Given the description of an element on the screen output the (x, y) to click on. 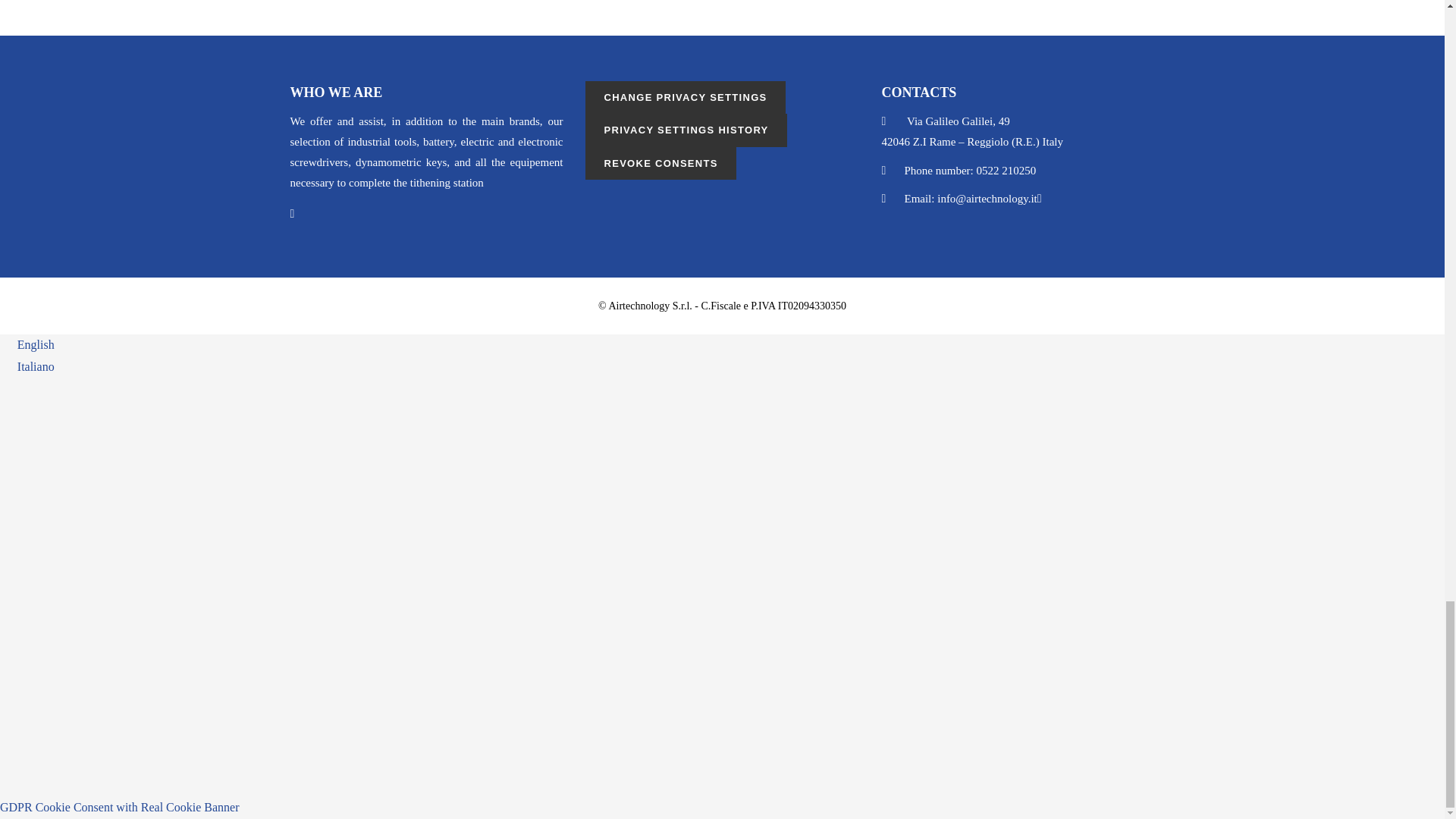
Italiano (27, 366)
PRIVACY SETTINGS HISTORY (685, 129)
English (27, 344)
REVOKE CONSENTS (660, 163)
GDPR Cookie Consent with Real Cookie Banner (120, 807)
English (27, 344)
Send (318, 737)
CHANGE PRIVACY SETTINGS (684, 97)
Italiano (27, 366)
